Given the description of an element on the screen output the (x, y) to click on. 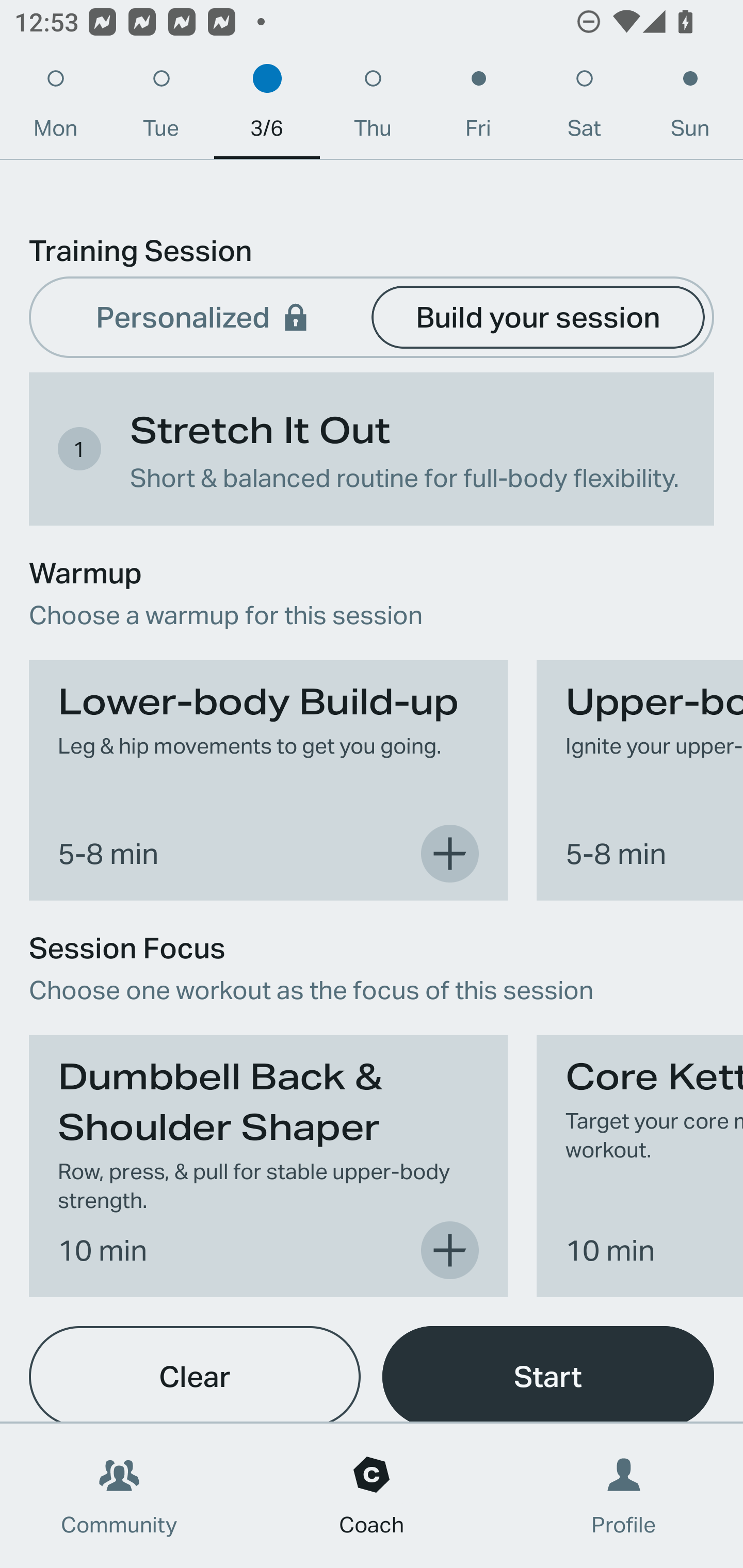
Mon (55, 108)
Tue (160, 108)
3/6 (266, 108)
Thu (372, 108)
Fri (478, 108)
Sat (584, 108)
Sun (690, 108)
Personalized (204, 315)
Build your session (538, 315)
Clear (194, 1374)
Start (548, 1374)
Community (119, 1495)
Profile (624, 1495)
